Given the description of an element on the screen output the (x, y) to click on. 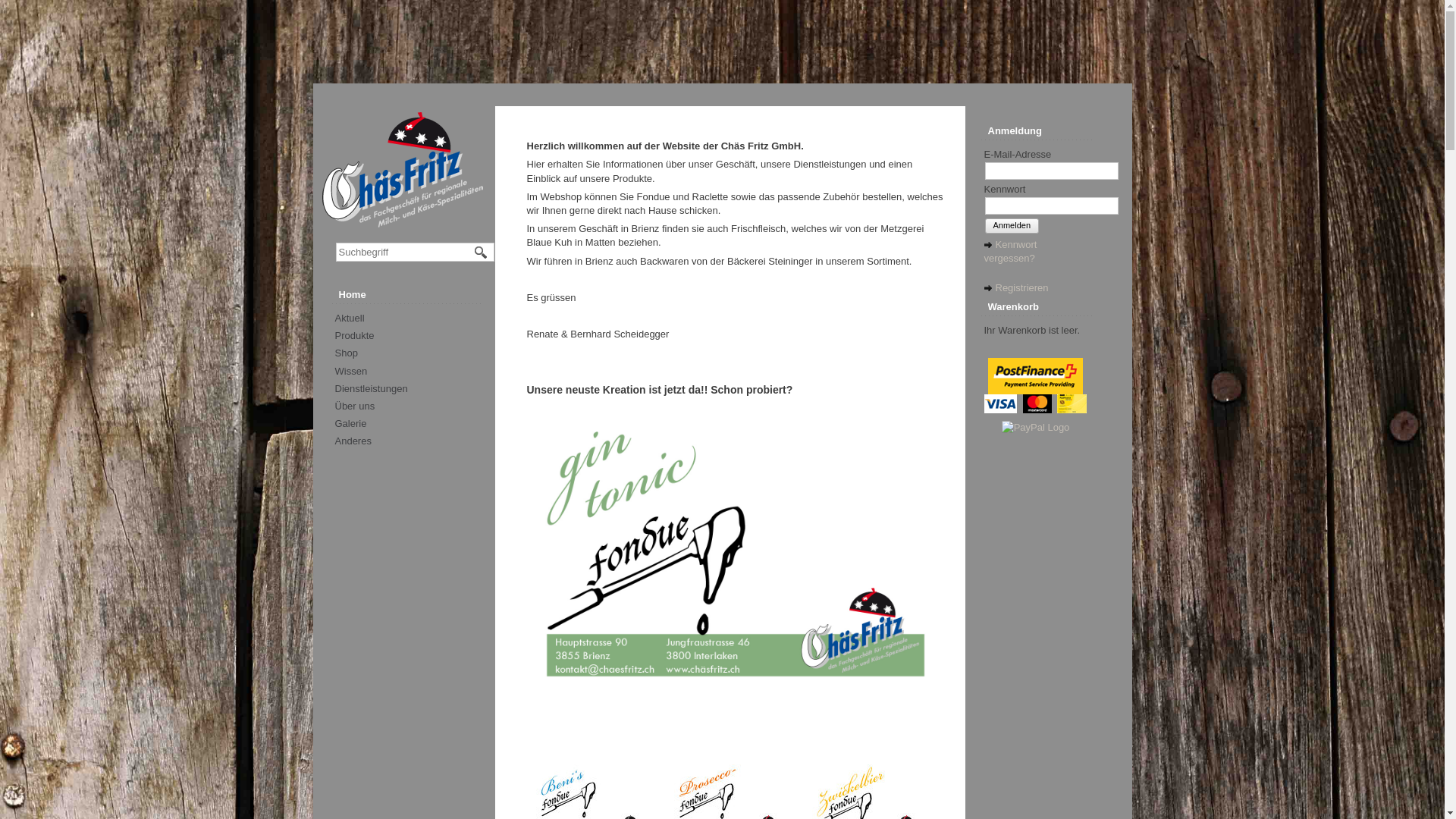
Kennwort vergessen? Element type: text (1010, 250)
Home Element type: text (409, 294)
Aktuell Element type: text (349, 317)
Wissen Element type: text (351, 370)
Anmelden Element type: text (1011, 225)
Galerie Element type: text (351, 423)
Shop Element type: text (346, 352)
PostFinance Element type: hover (1035, 375)
Produkte Element type: text (354, 335)
Registrieren Element type: text (1016, 287)
Anderes Element type: text (353, 440)
Dienstleistungen Element type: text (371, 388)
